Given the description of an element on the screen output the (x, y) to click on. 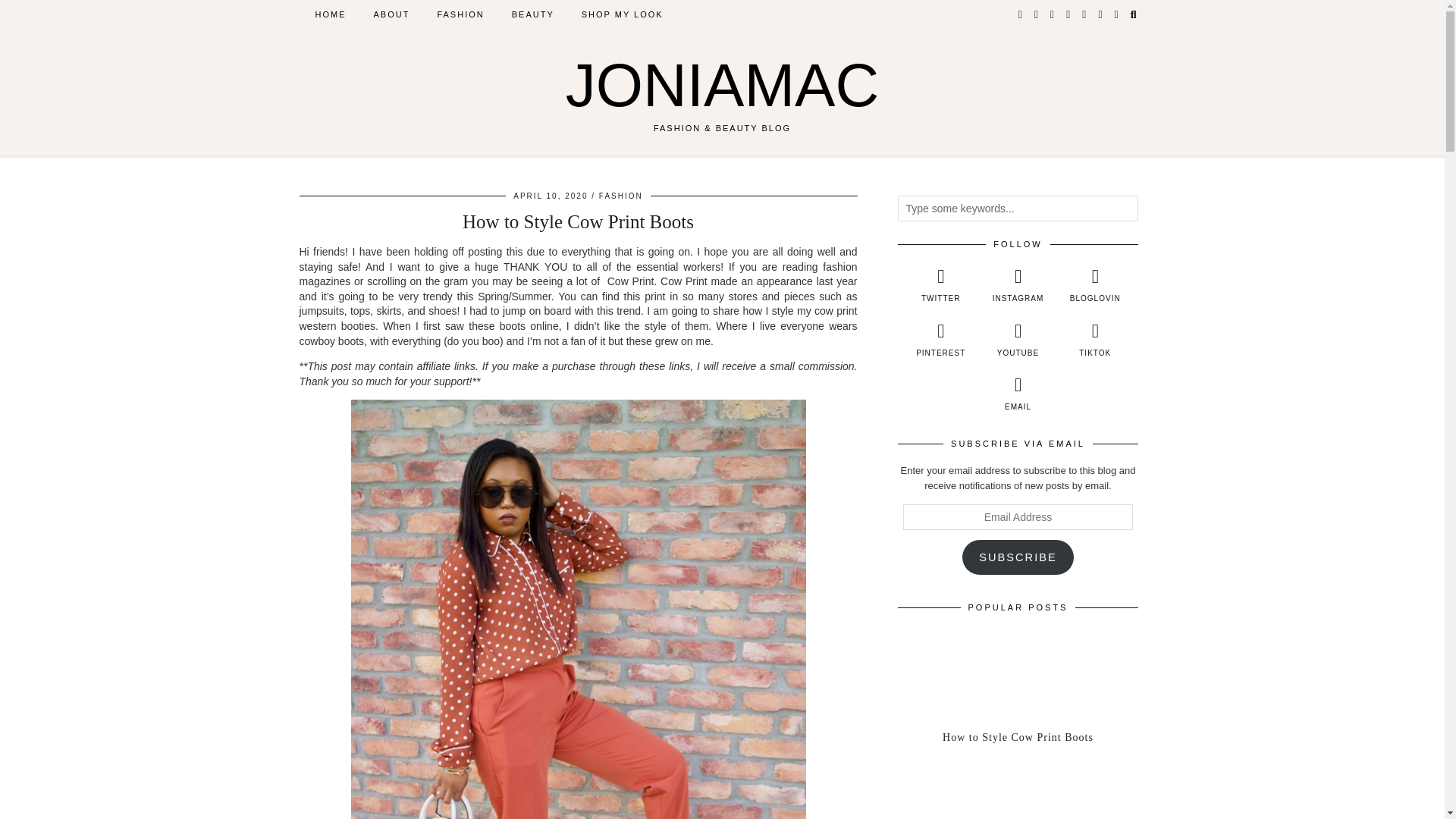
ABOUT (391, 14)
FASHION (620, 195)
FASHION (460, 14)
JONIAMAC (722, 84)
BEAUTY (532, 14)
SHOP MY LOOK (622, 14)
HOME (330, 14)
